Given the description of an element on the screen output the (x, y) to click on. 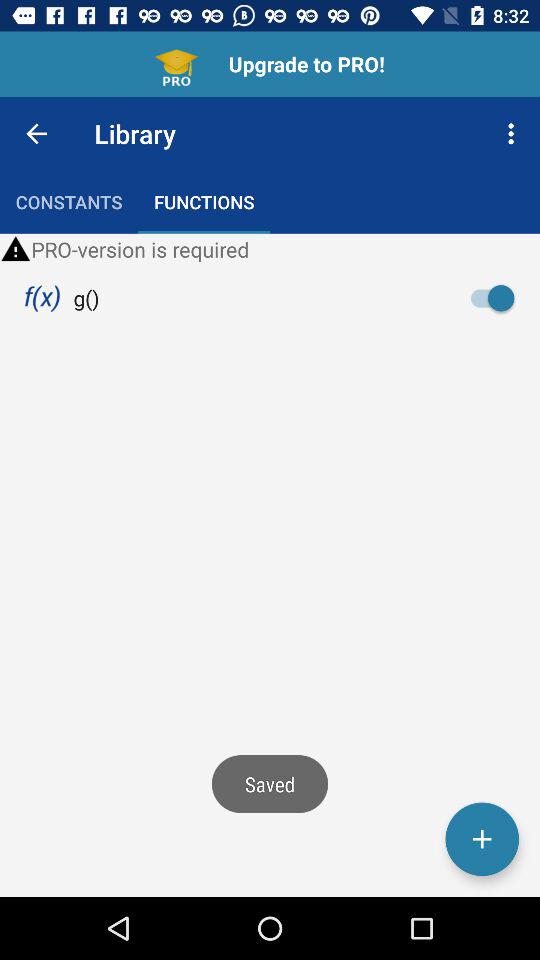
jump until the g() item (86, 297)
